Given the description of an element on the screen output the (x, y) to click on. 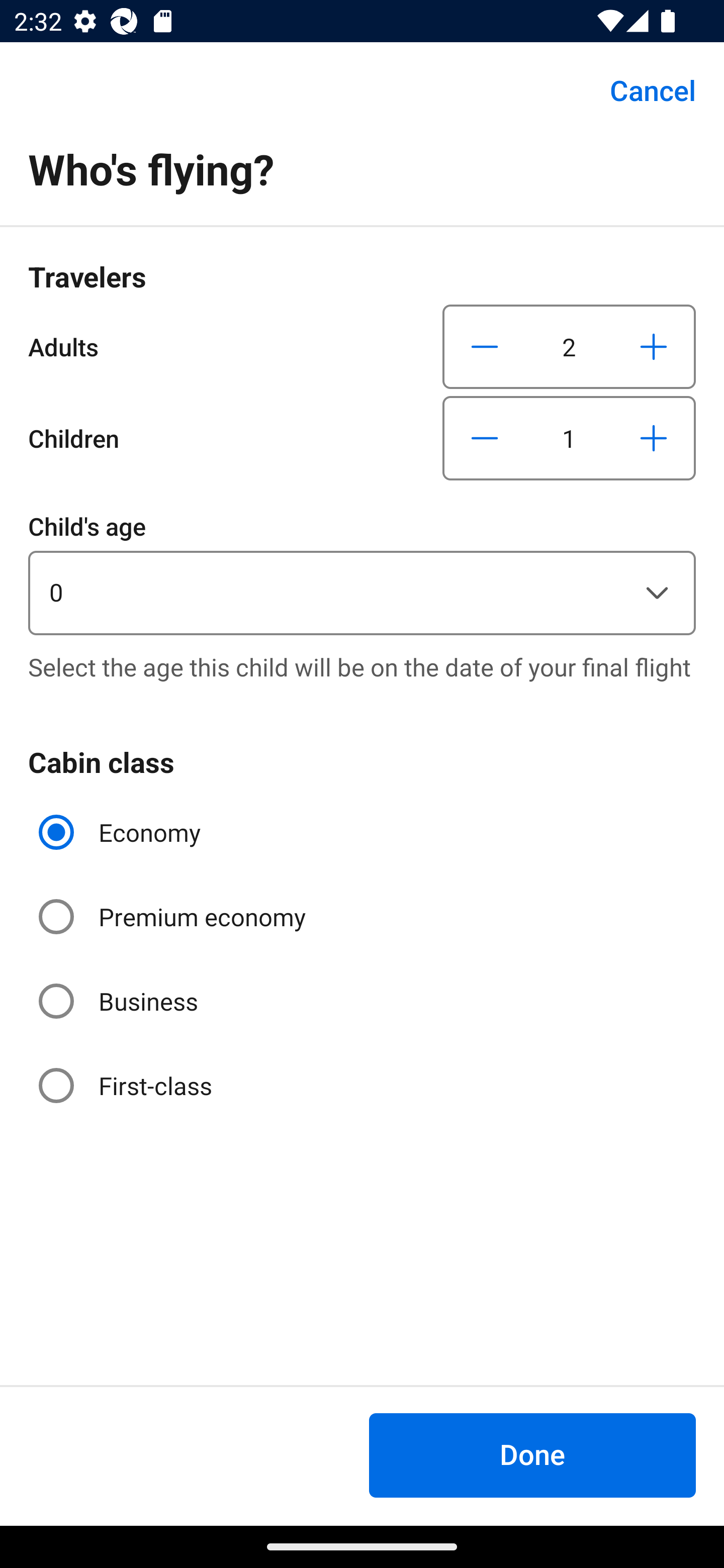
Cancel (641, 90)
Decrease (484, 346)
Increase (653, 346)
Decrease (484, 437)
Increase (653, 437)
Child's age
 Child's age 0 (361, 571)
Economy (121, 832)
Premium economy (174, 916)
Business (120, 1000)
First-class (126, 1084)
Done (532, 1454)
